Given the description of an element on the screen output the (x, y) to click on. 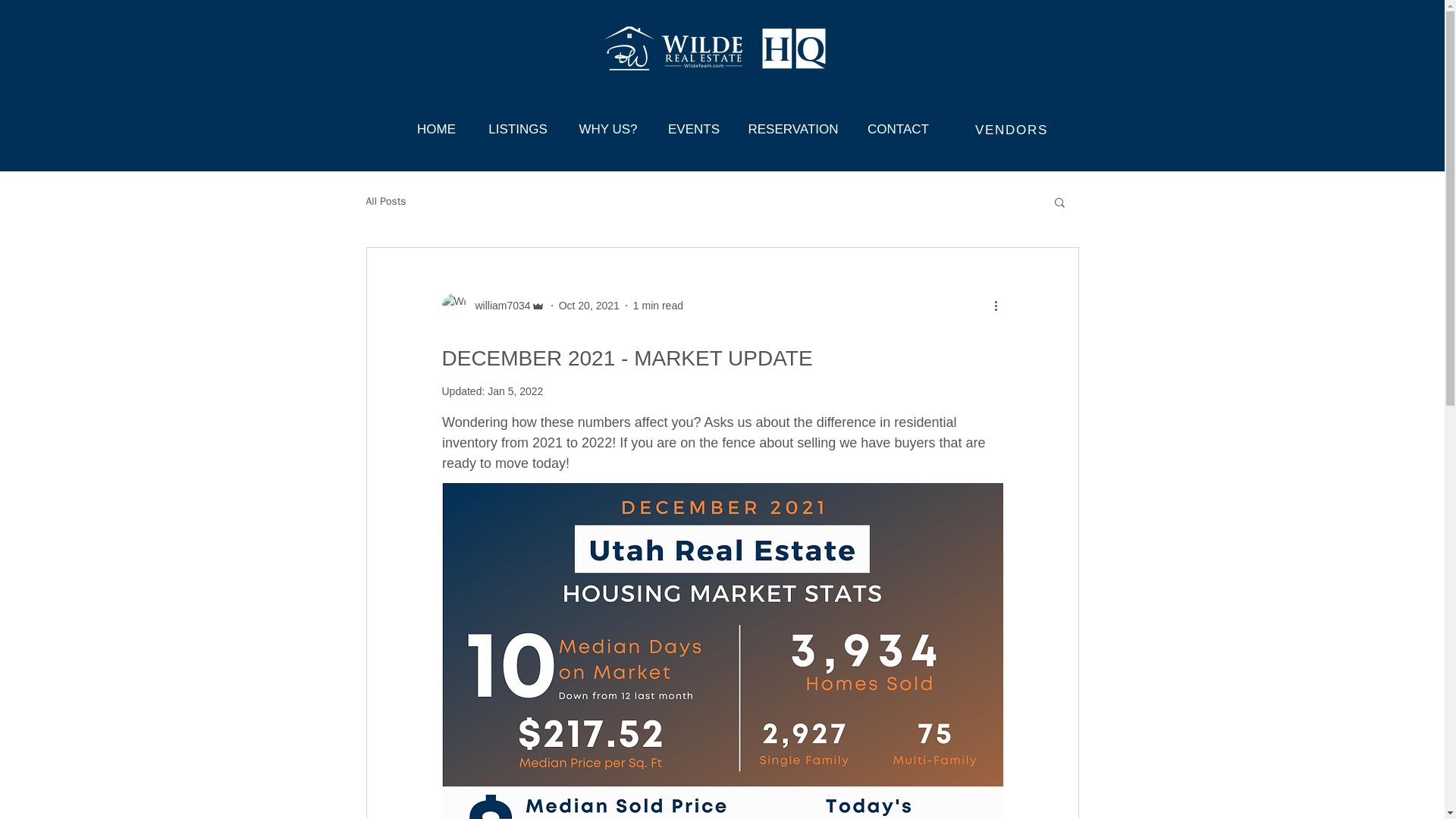
EVENTS (694, 122)
CONTACT (897, 122)
william7034 (492, 305)
HOME (436, 122)
william7034 (497, 304)
LISTINGS (518, 122)
1 min read (657, 304)
VENDORS (1013, 130)
Oct 20, 2021 (589, 304)
Jan 5, 2022 (515, 390)
